Given the description of an element on the screen output the (x, y) to click on. 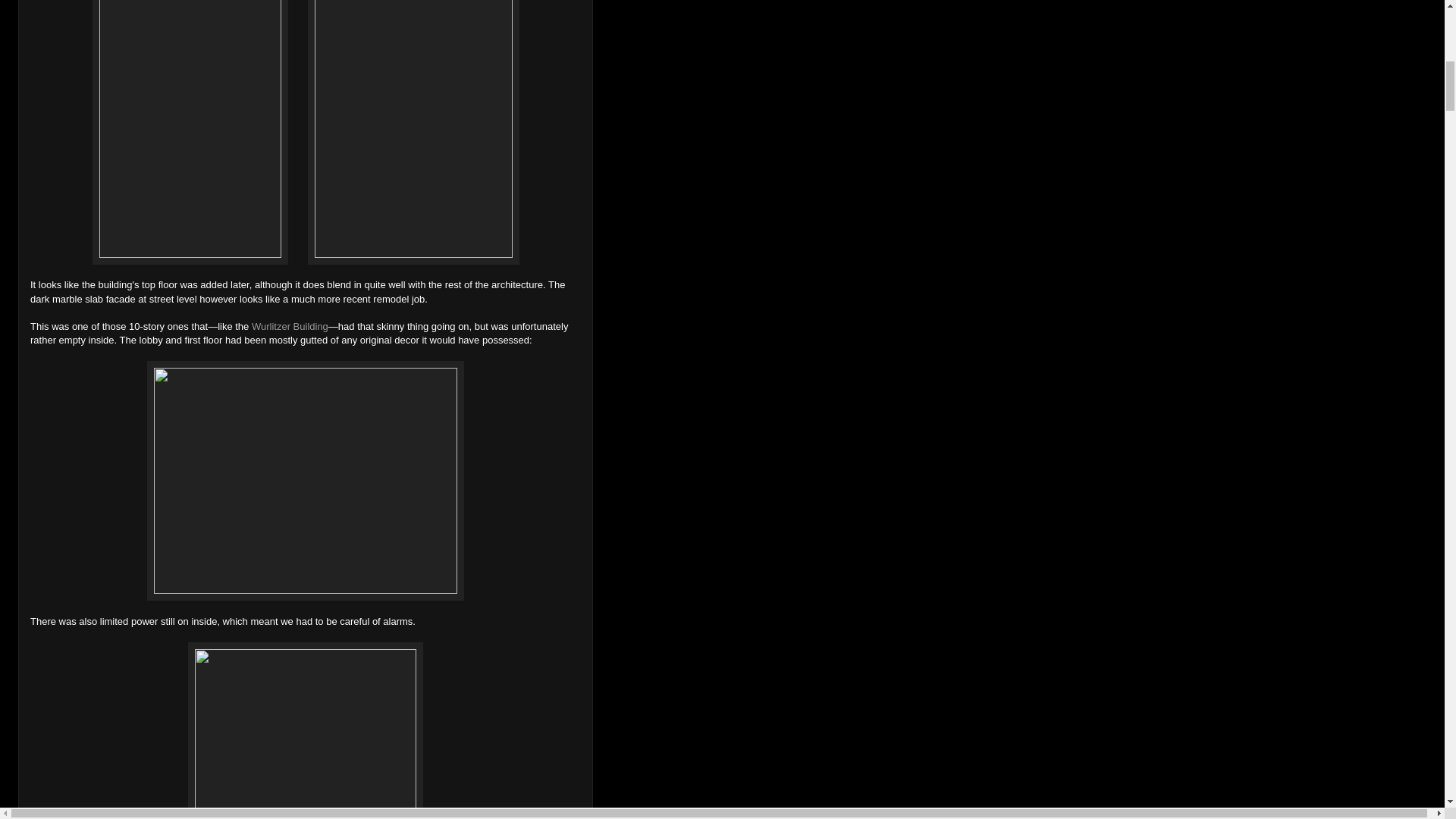
Wurlitzer Building (290, 326)
